Given the description of an element on the screen output the (x, y) to click on. 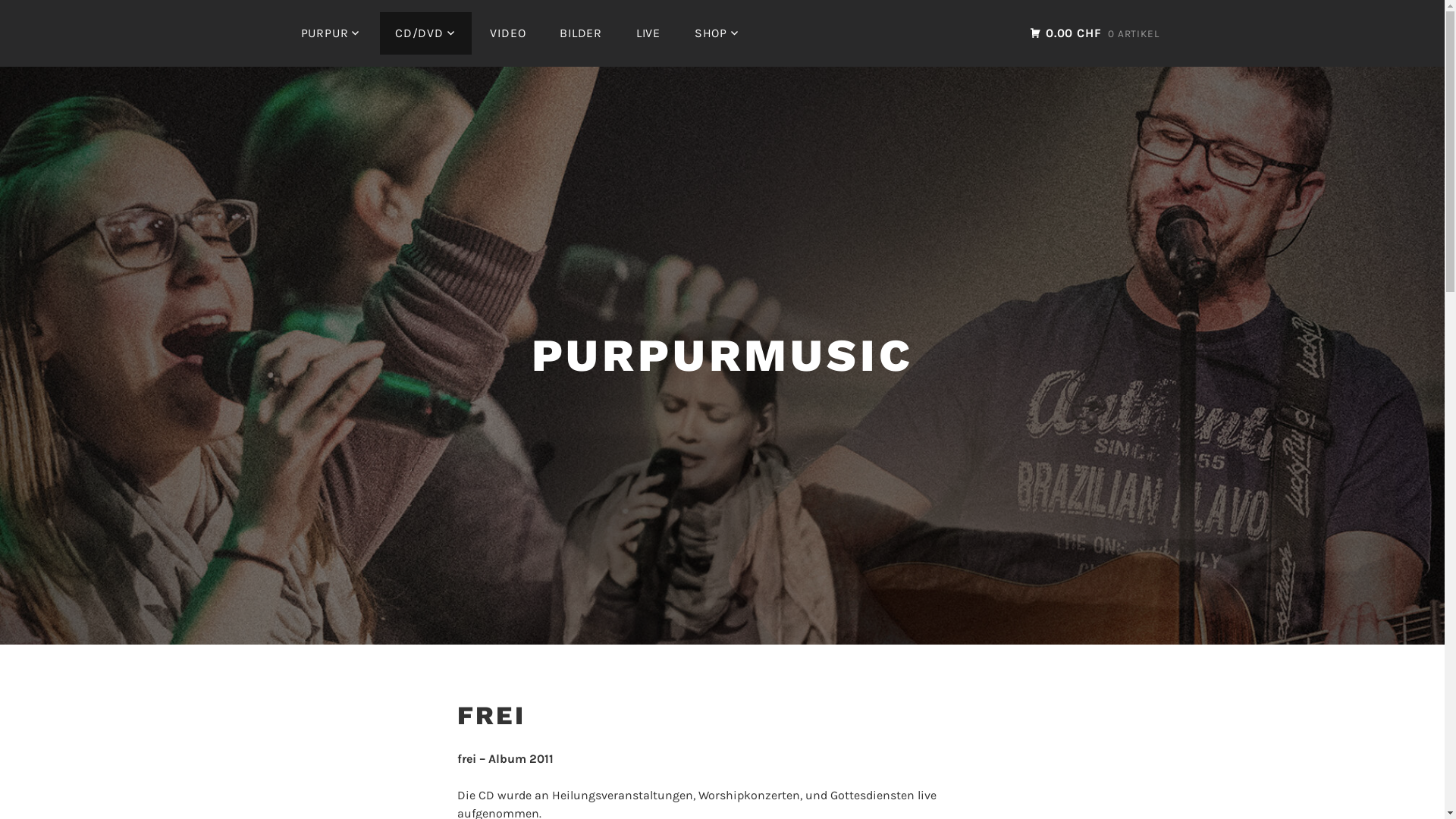
VIDEO Element type: text (507, 33)
PURPUR Element type: text (330, 33)
BILDER Element type: text (580, 33)
CD/DVD Element type: text (425, 33)
PURPURMUSIC Element type: text (722, 355)
0.00 CHF 0 ARTIKEL Element type: text (1093, 32)
LIVE Element type: text (648, 33)
SHOP Element type: text (717, 33)
